Given the description of an element on the screen output the (x, y) to click on. 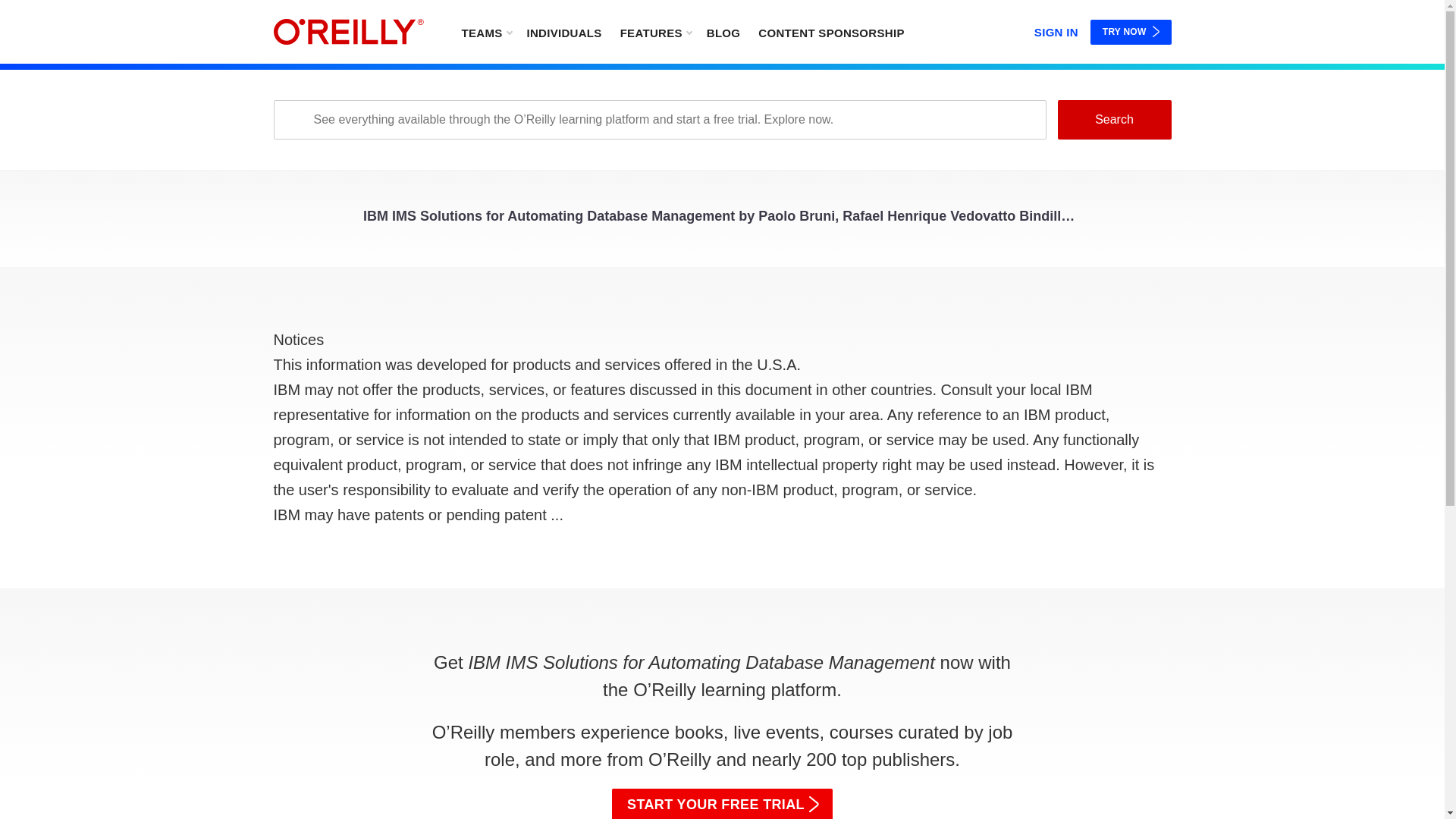
TEAMS (486, 31)
BLOG (723, 31)
FEATURES (655, 31)
Search (1113, 119)
TRY NOW (1131, 32)
Search (1113, 119)
SIGN IN (1055, 29)
Search (1113, 119)
CONTENT SPONSORSHIP (831, 31)
INDIVIDUALS (563, 31)
home page (348, 31)
START YOUR FREE TRIAL (721, 803)
